Given the description of an element on the screen output the (x, y) to click on. 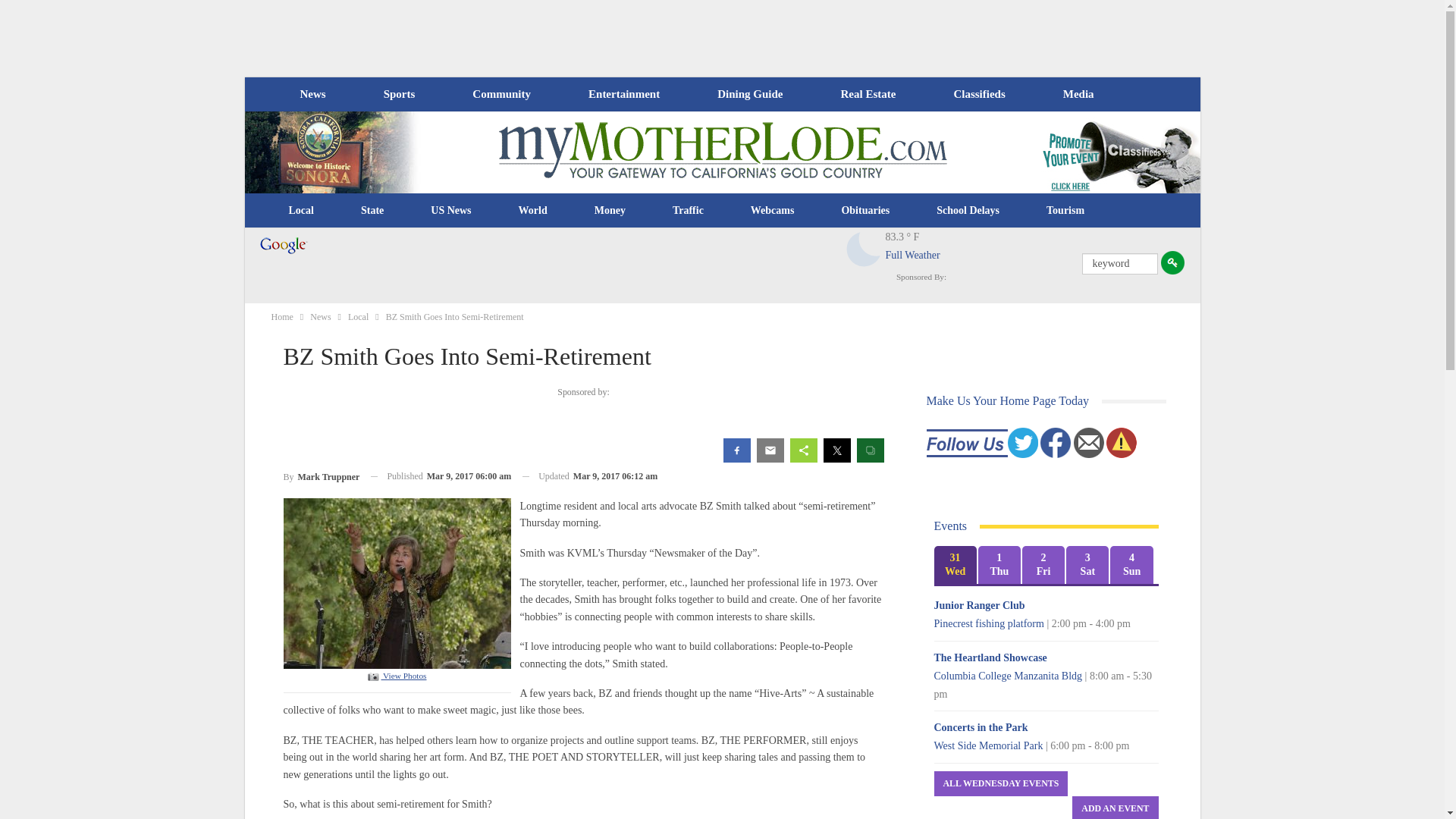
Clear (864, 249)
Sports (399, 93)
World (532, 210)
Local (300, 210)
Obituaries (865, 210)
State (372, 210)
US News (451, 210)
Submit (1172, 262)
Community (501, 93)
Browse Author Articles (321, 476)
Webcams (772, 210)
